Given the description of an element on the screen output the (x, y) to click on. 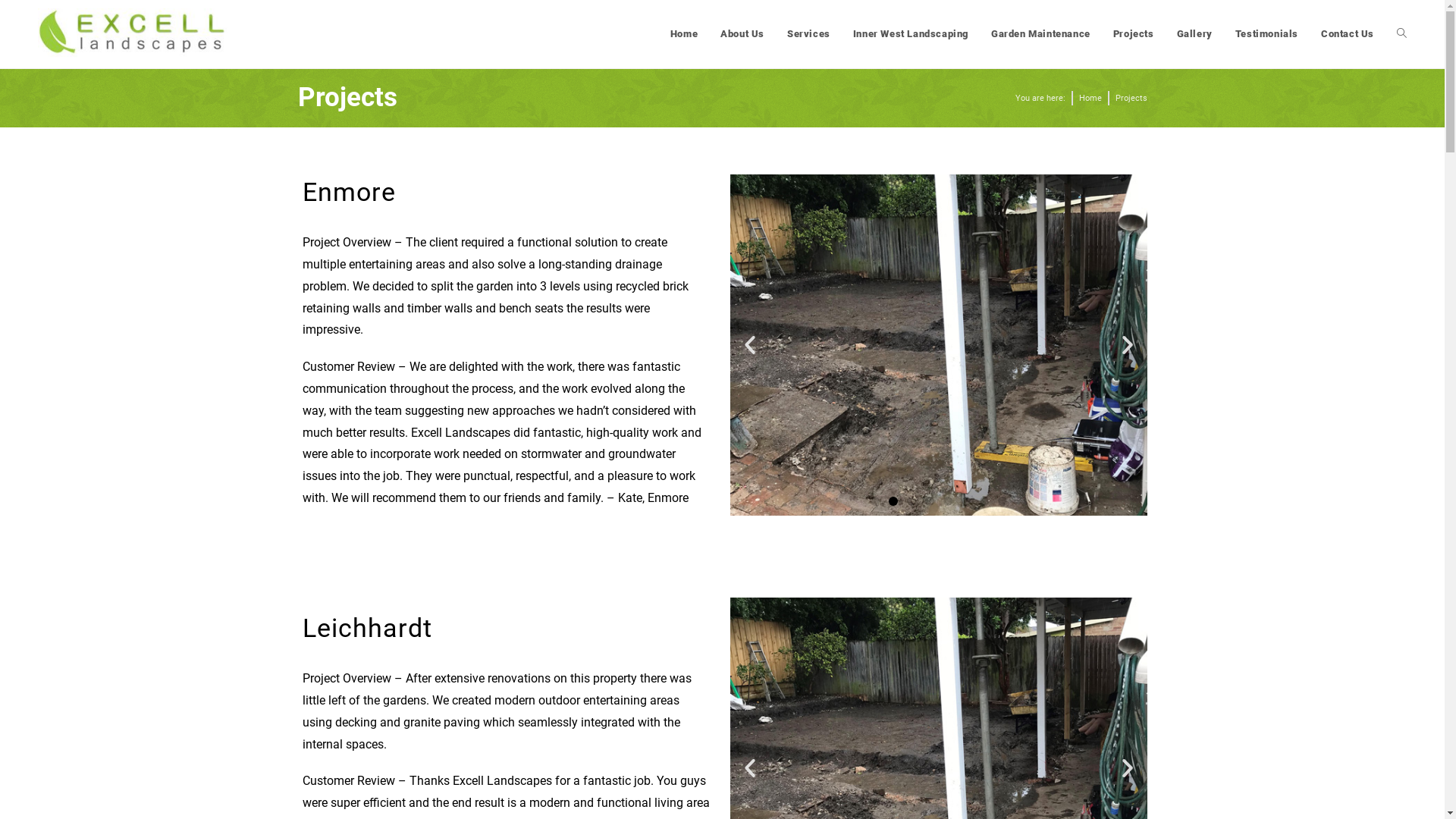
Services Element type: text (808, 34)
Inner West Landscaping Element type: text (910, 34)
Home Element type: text (1089, 98)
Garden Maintenance Element type: text (1040, 34)
Contact Us Element type: text (1347, 34)
Home Element type: text (683, 34)
Testimonials Element type: text (1266, 34)
Gallery Element type: text (1194, 34)
Projects Element type: text (1133, 34)
About Us Element type: text (742, 34)
